Given the description of an element on the screen output the (x, y) to click on. 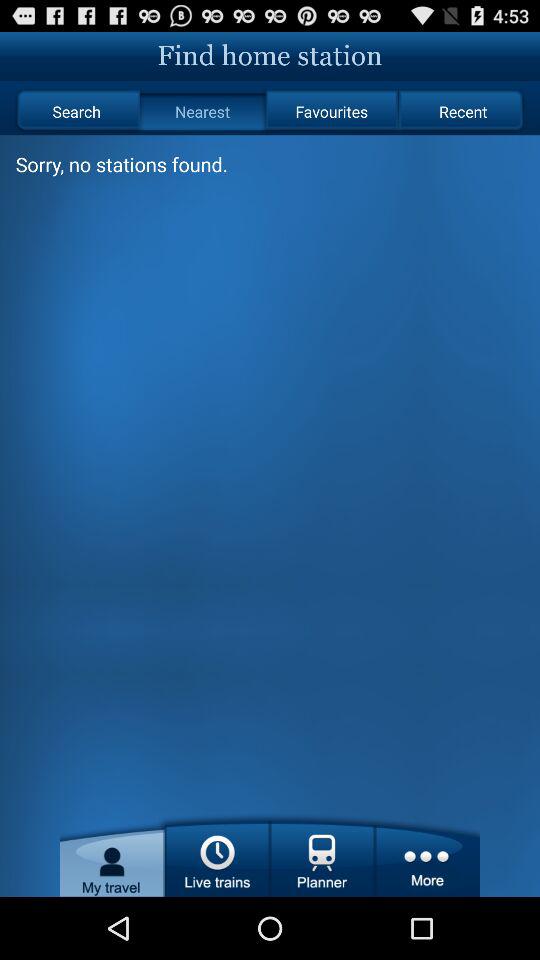
turn off the icon below the find home station item (202, 111)
